Given the description of an element on the screen output the (x, y) to click on. 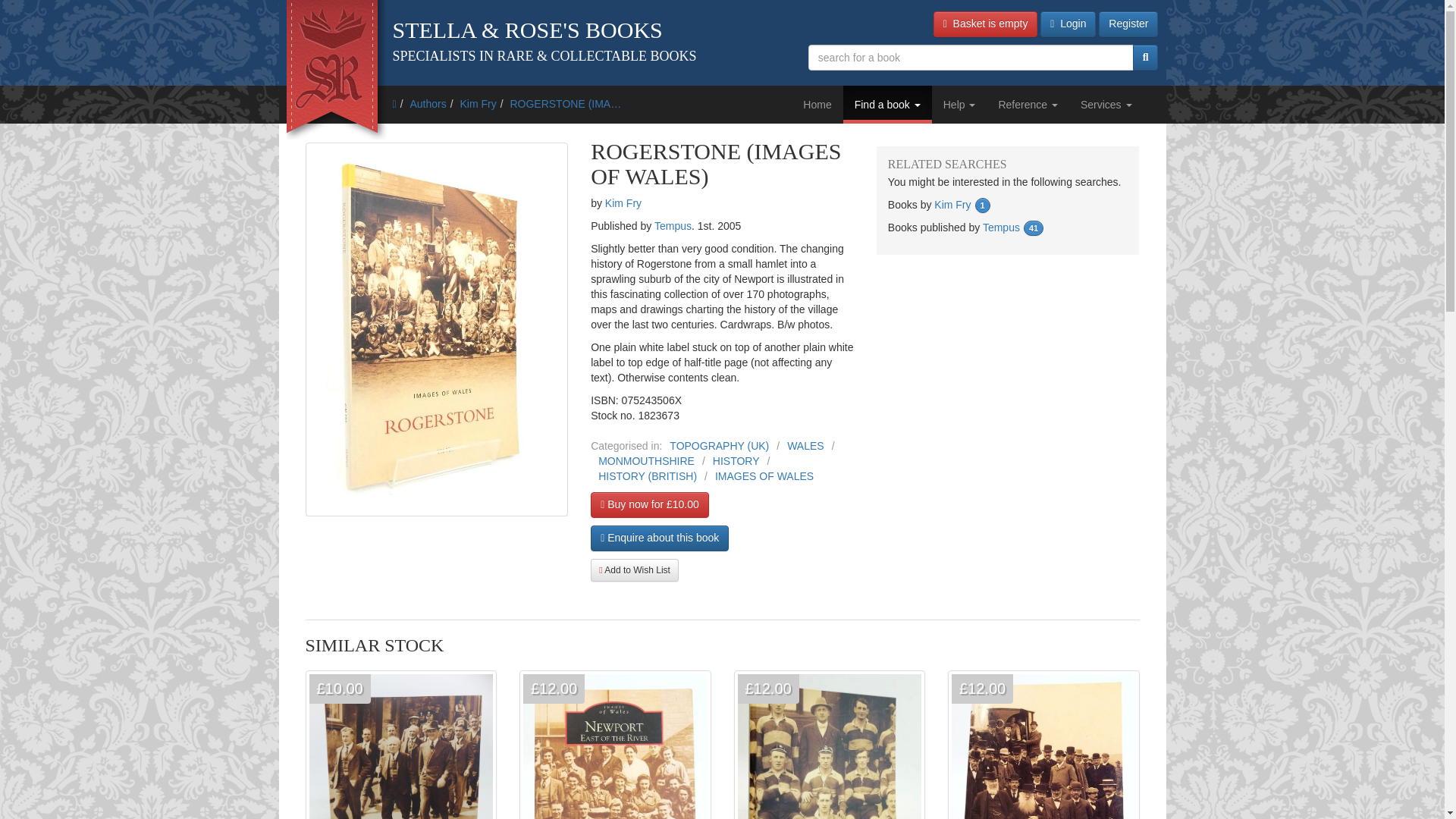
  Login (1068, 23)
Find a book (887, 104)
Authors (427, 103)
Services (1105, 104)
Kim Fry (478, 103)
Home (817, 104)
Reference (1027, 104)
  Basket is empty (985, 23)
Kim Fry (478, 103)
Register (1128, 23)
